Given the description of an element on the screen output the (x, y) to click on. 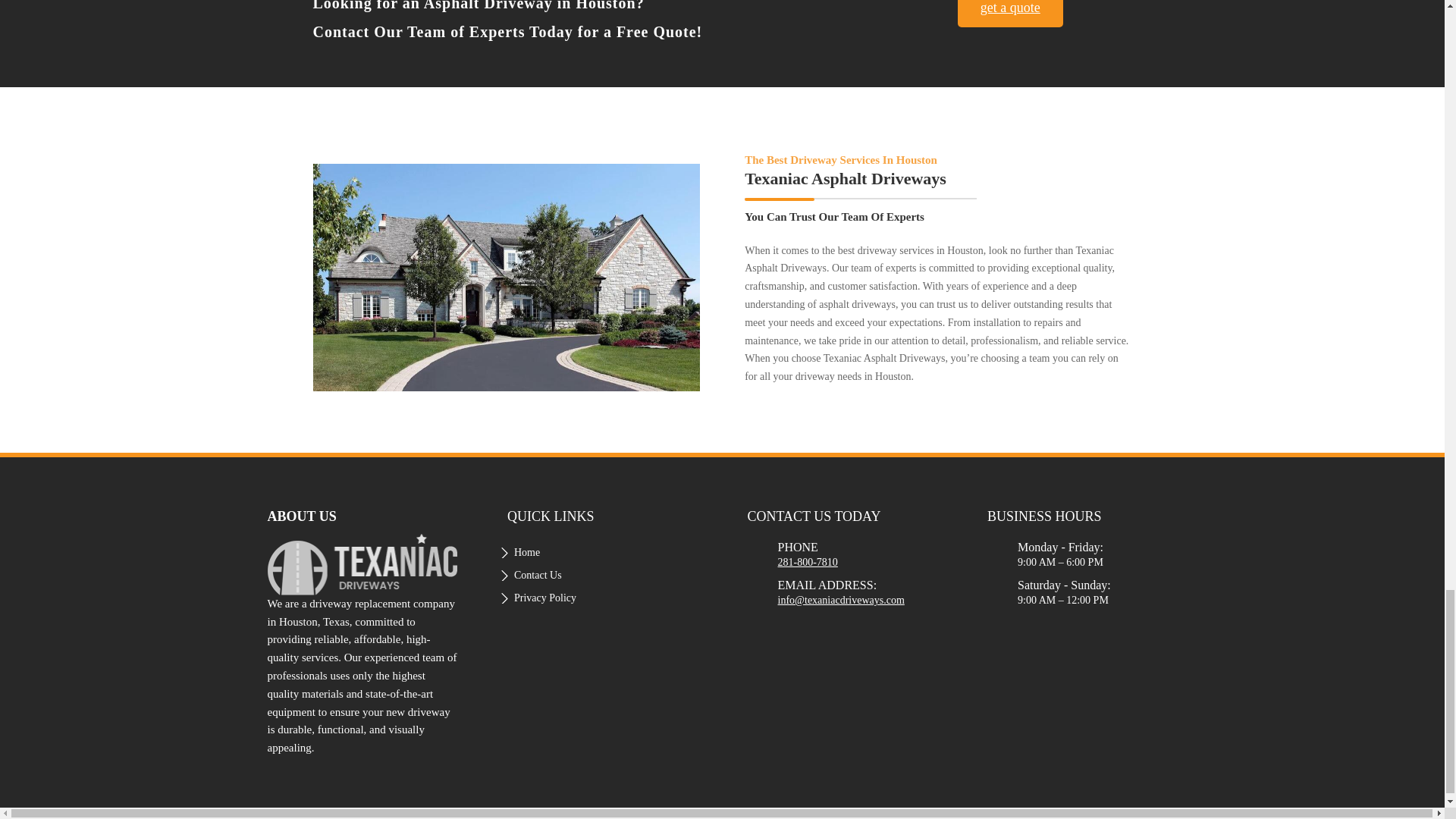
Privacy Policy (544, 600)
Contact Us (537, 578)
web-footer-logo (361, 564)
281-800-7810 (807, 562)
get a quote (1010, 13)
Home (526, 555)
